Given the description of an element on the screen output the (x, y) to click on. 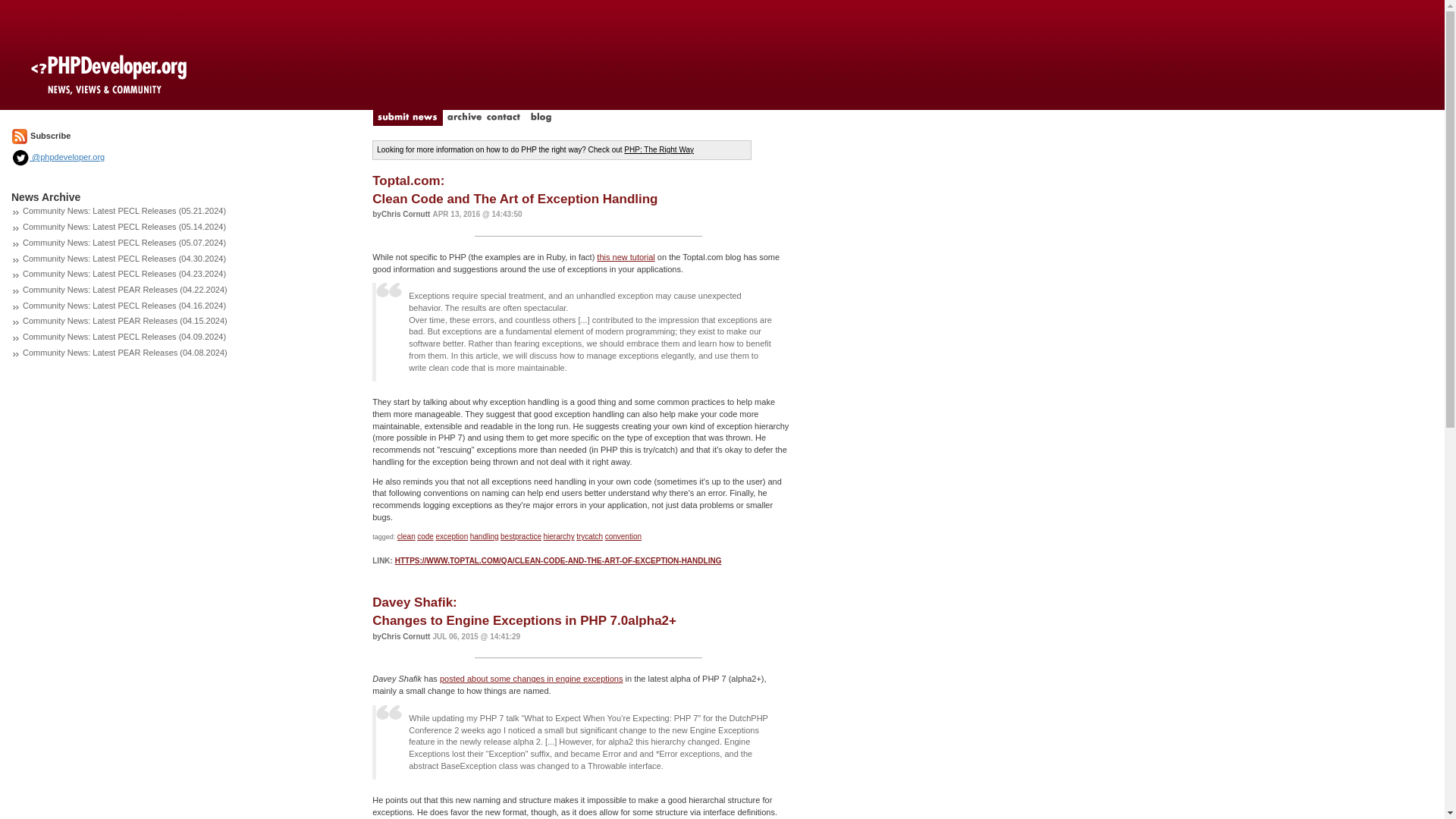
convention (623, 536)
PHP: The Right Way (659, 149)
hierarchy (558, 536)
posted about some changes in engine exceptions (531, 678)
bestpractice (520, 536)
trycatch (589, 536)
handling (515, 189)
clean (484, 536)
code (405, 536)
exception (424, 536)
this new tutorial (451, 536)
